Given the description of an element on the screen output the (x, y) to click on. 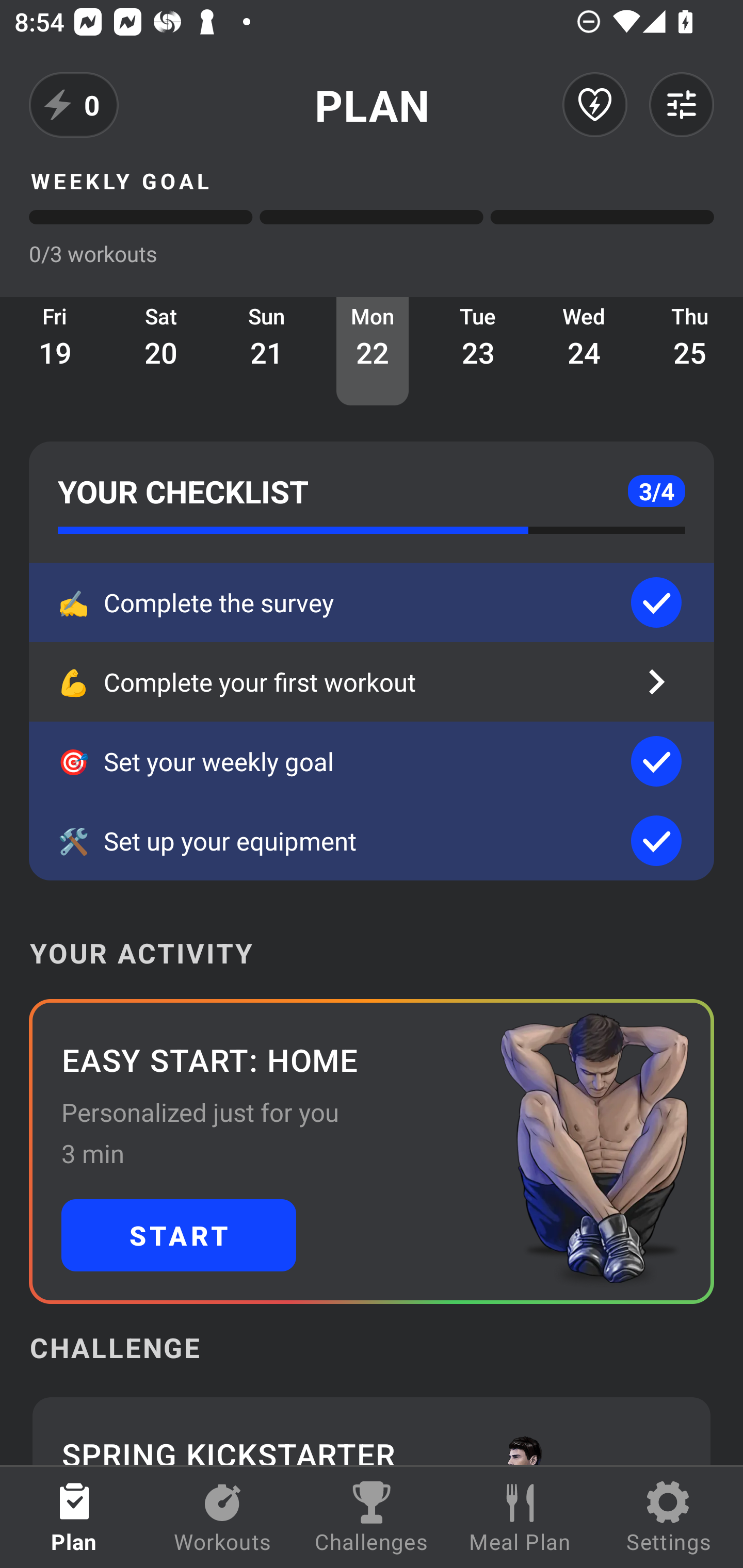
0 (73, 104)
Fri 19 (55, 351)
Sat 20 (160, 351)
Sun 21 (266, 351)
Mon 22 (372, 351)
Tue 23 (478, 351)
Wed 24 (584, 351)
Thu 25 (690, 351)
💪 Complete your first workout (371, 681)
START (178, 1235)
 Workouts  (222, 1517)
 Challenges  (371, 1517)
 Meal Plan  (519, 1517)
 Settings  (668, 1517)
